Given the description of an element on the screen output the (x, y) to click on. 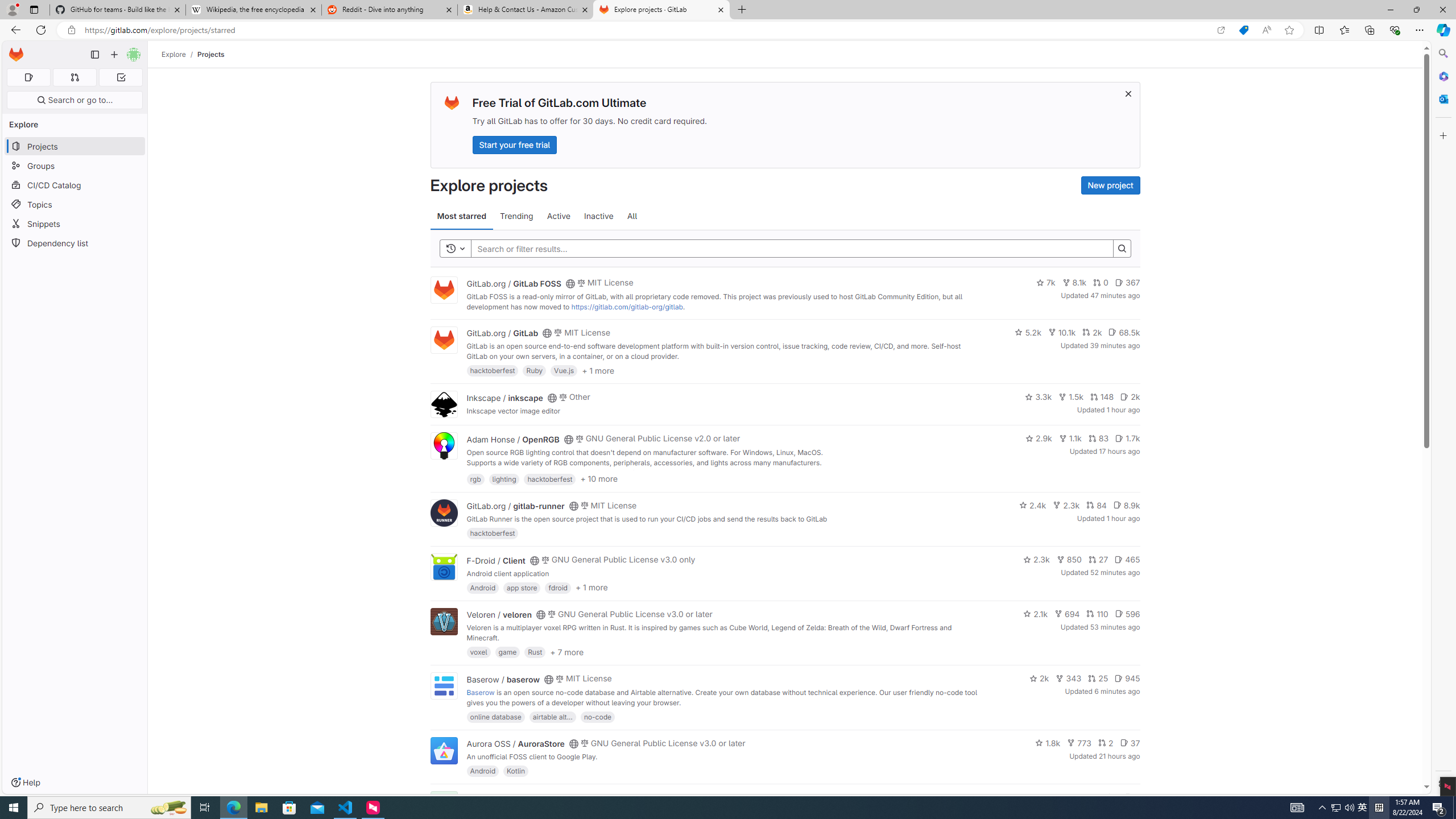
+ 1 more (591, 587)
Veloren / veloren (498, 614)
0 (1100, 282)
GitLab.org / GitLab (501, 333)
367 (1127, 282)
Trending (516, 216)
5.2k (1027, 331)
Explore/ (179, 53)
Snippets (74, 223)
773 (1079, 742)
2k (1039, 678)
hacktoberfest (492, 533)
